Given the description of an element on the screen output the (x, y) to click on. 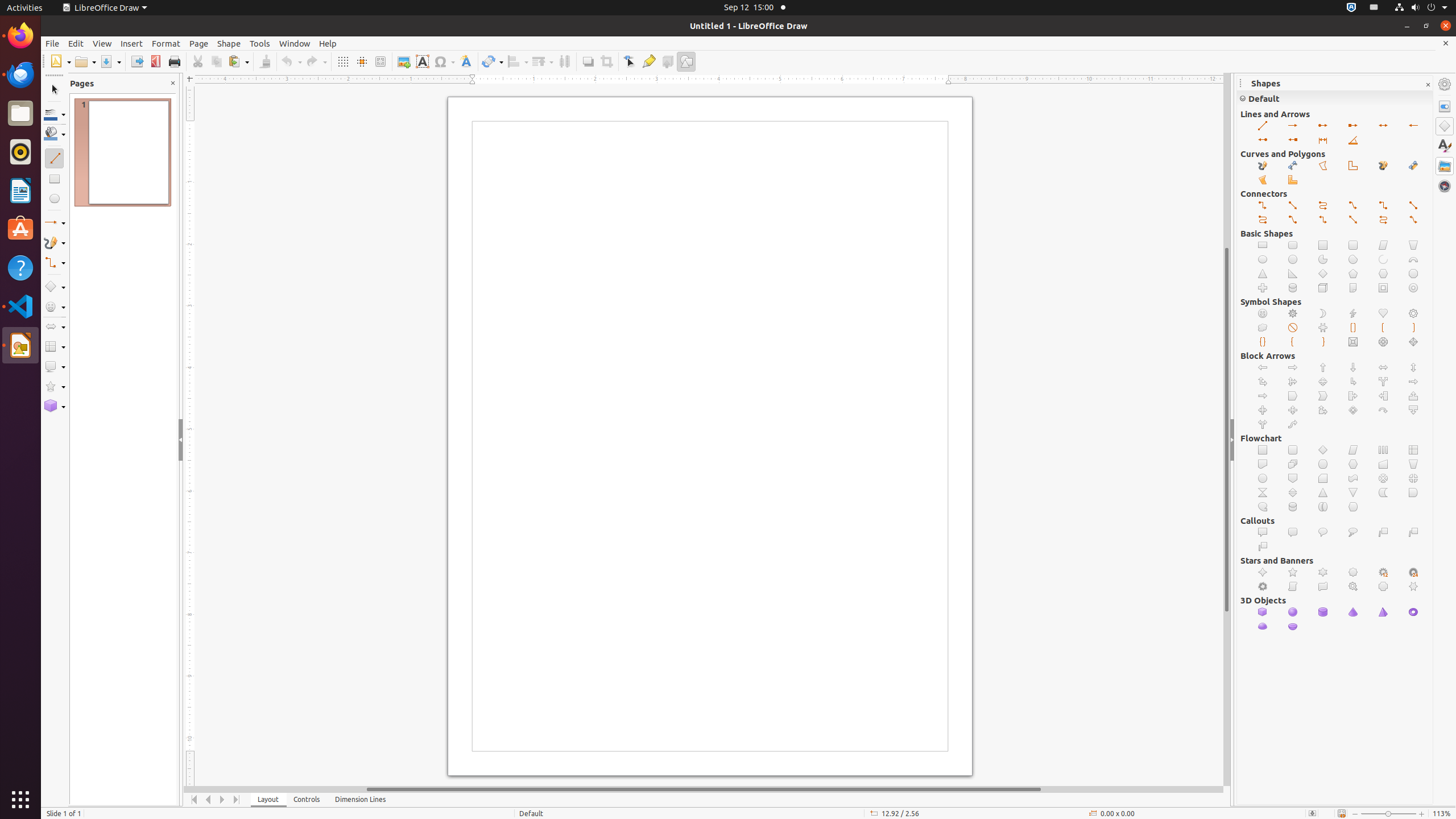
Dimension Line Element type: list-item (1323, 140)
Flowchart: Stored Data Element type: list-item (1383, 492)
Right Arrow Element type: list-item (1292, 367)
Flowchart: Terminator Element type: list-item (1323, 464)
Line Color Element type: push-button (54, 113)
